Given the description of an element on the screen output the (x, y) to click on. 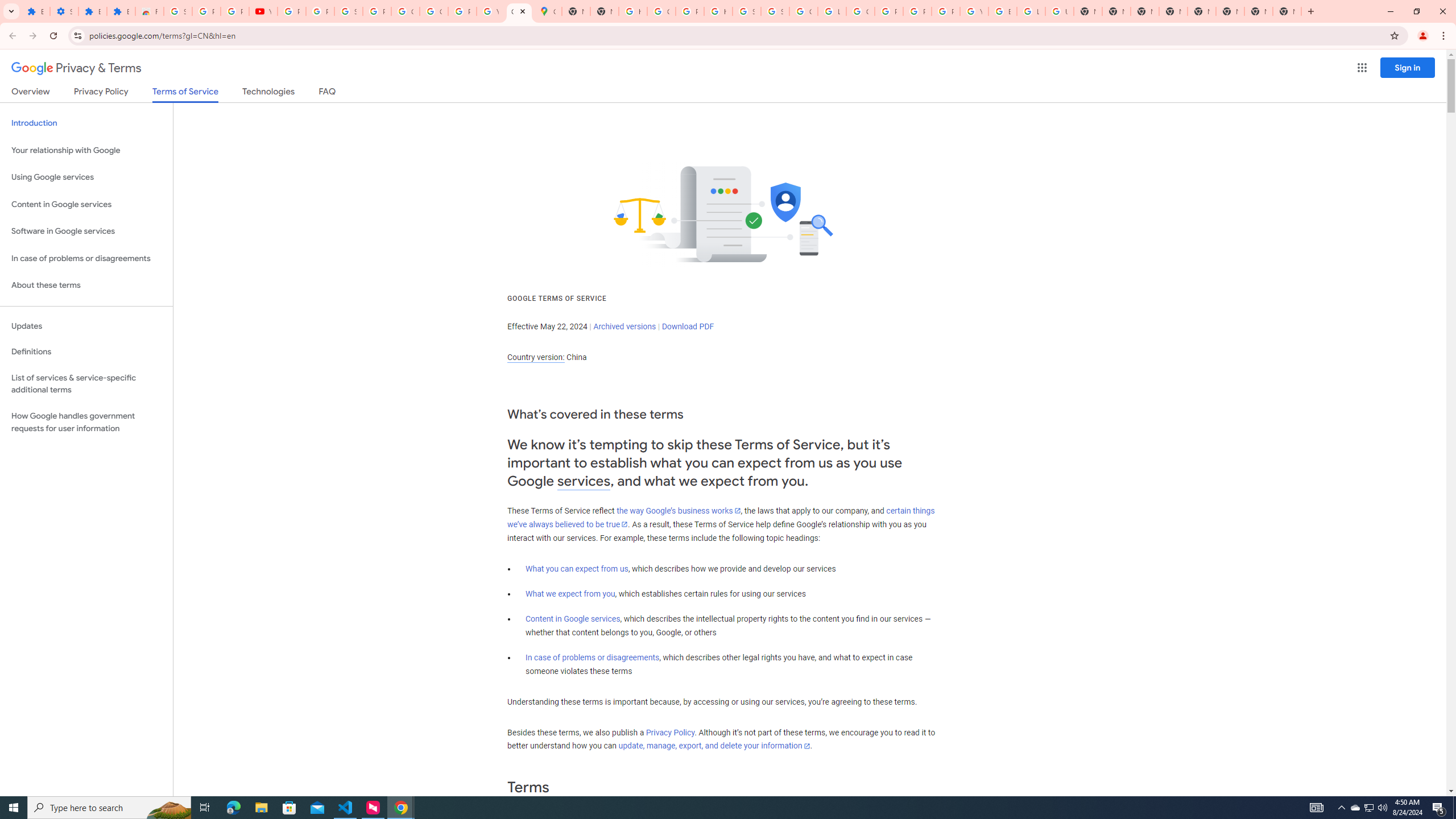
New Tab (1144, 11)
https://scholar.google.com/ (632, 11)
Sign in - Google Accounts (348, 11)
Your relationship with Google (86, 150)
Sign in - Google Accounts (746, 11)
https://scholar.google.com/ (718, 11)
How Google handles government requests for user information (86, 422)
